Given the description of an element on the screen output the (x, y) to click on. 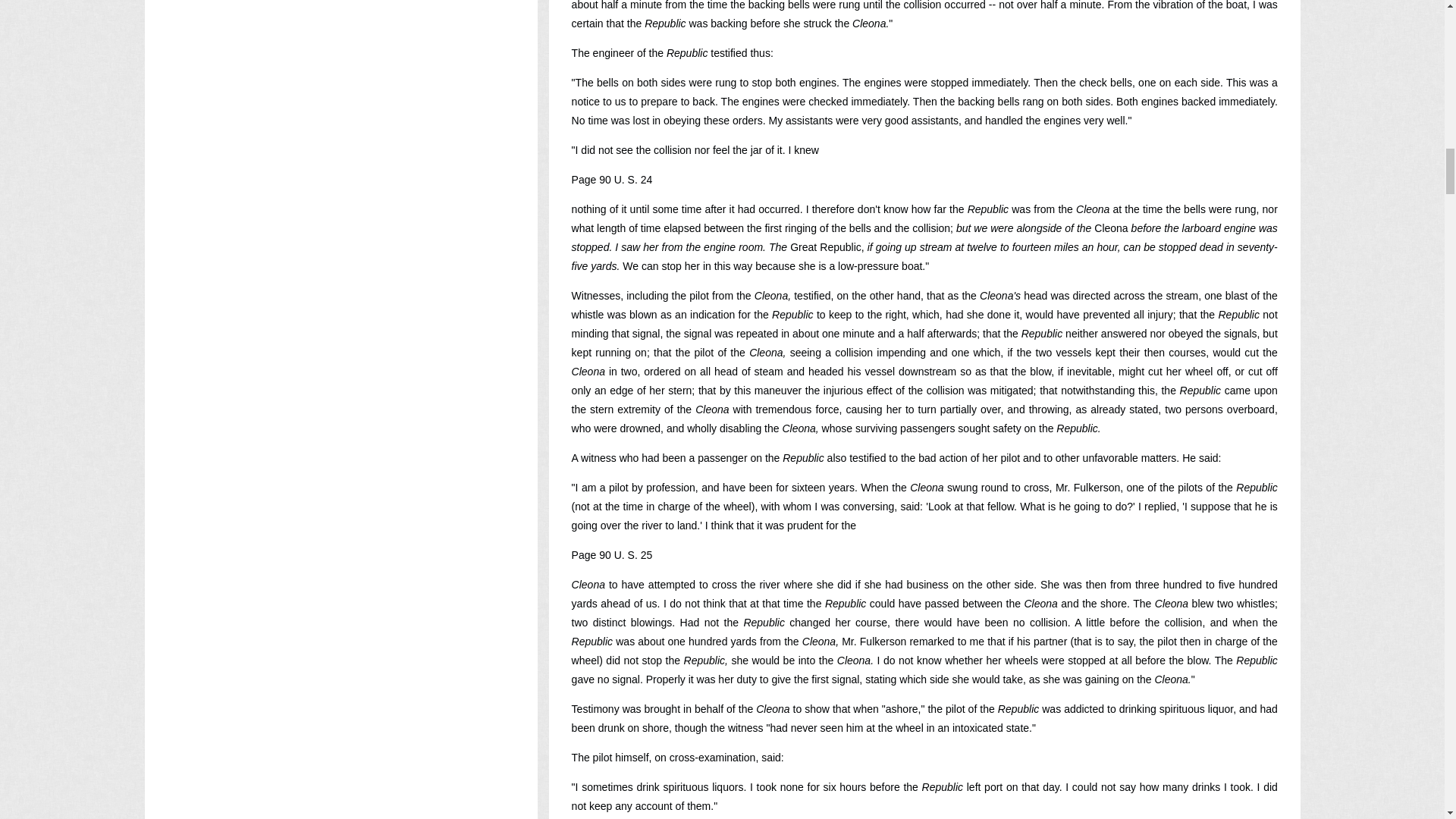
Page 90 U. S. 24 (612, 179)
Page 90 U. S. 25 (612, 554)
